Given the description of an element on the screen output the (x, y) to click on. 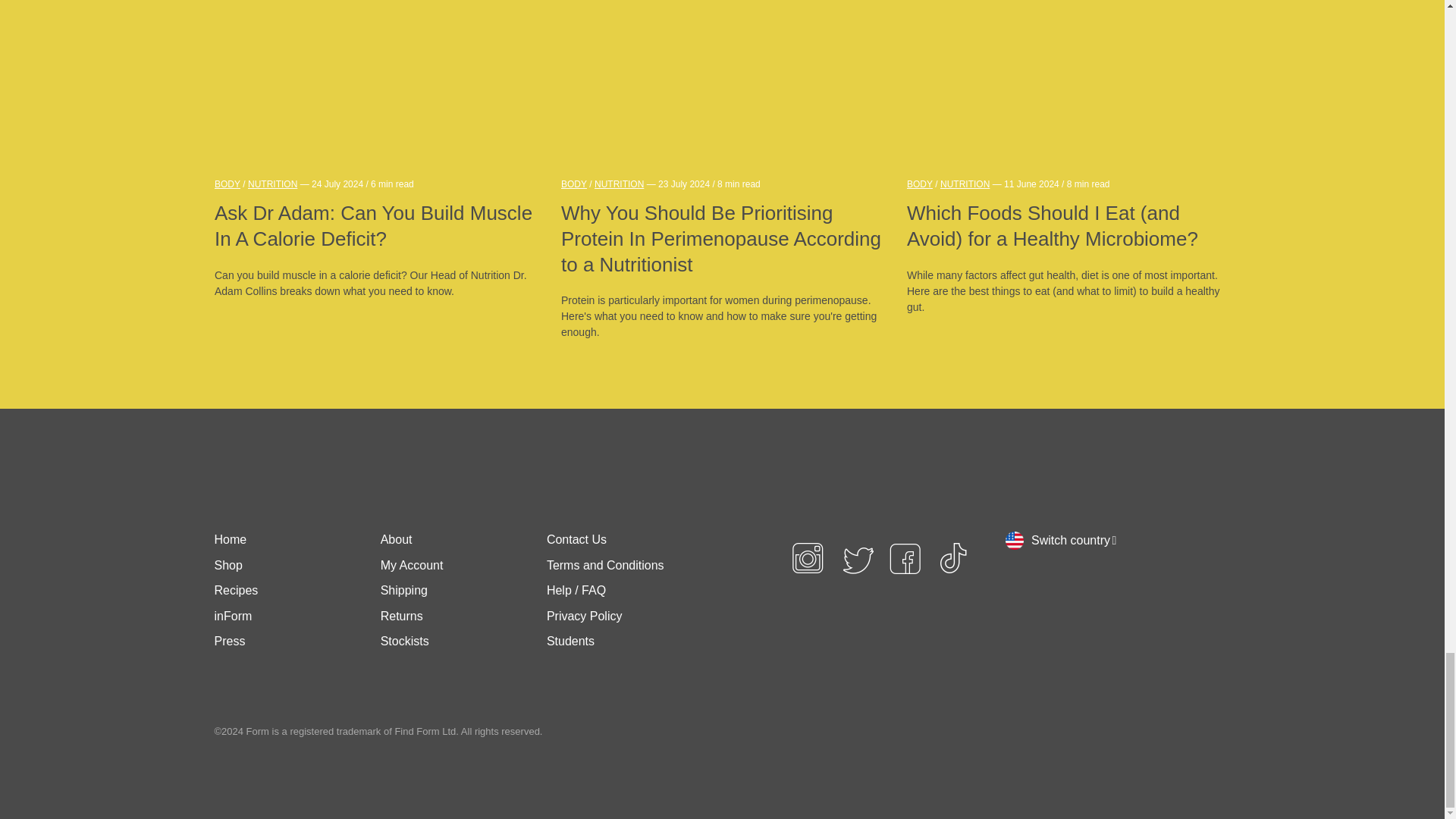
CoolBrands UK (823, 655)
NUTRITION (272, 184)
BODY (573, 184)
BCorp (953, 655)
Ask Dr Adam: Can You Build Muscle In A Calorie Deficit? (375, 226)
NUTRITION (618, 184)
BODY (227, 184)
Ocean Positive (895, 655)
